Given the description of an element on the screen output the (x, y) to click on. 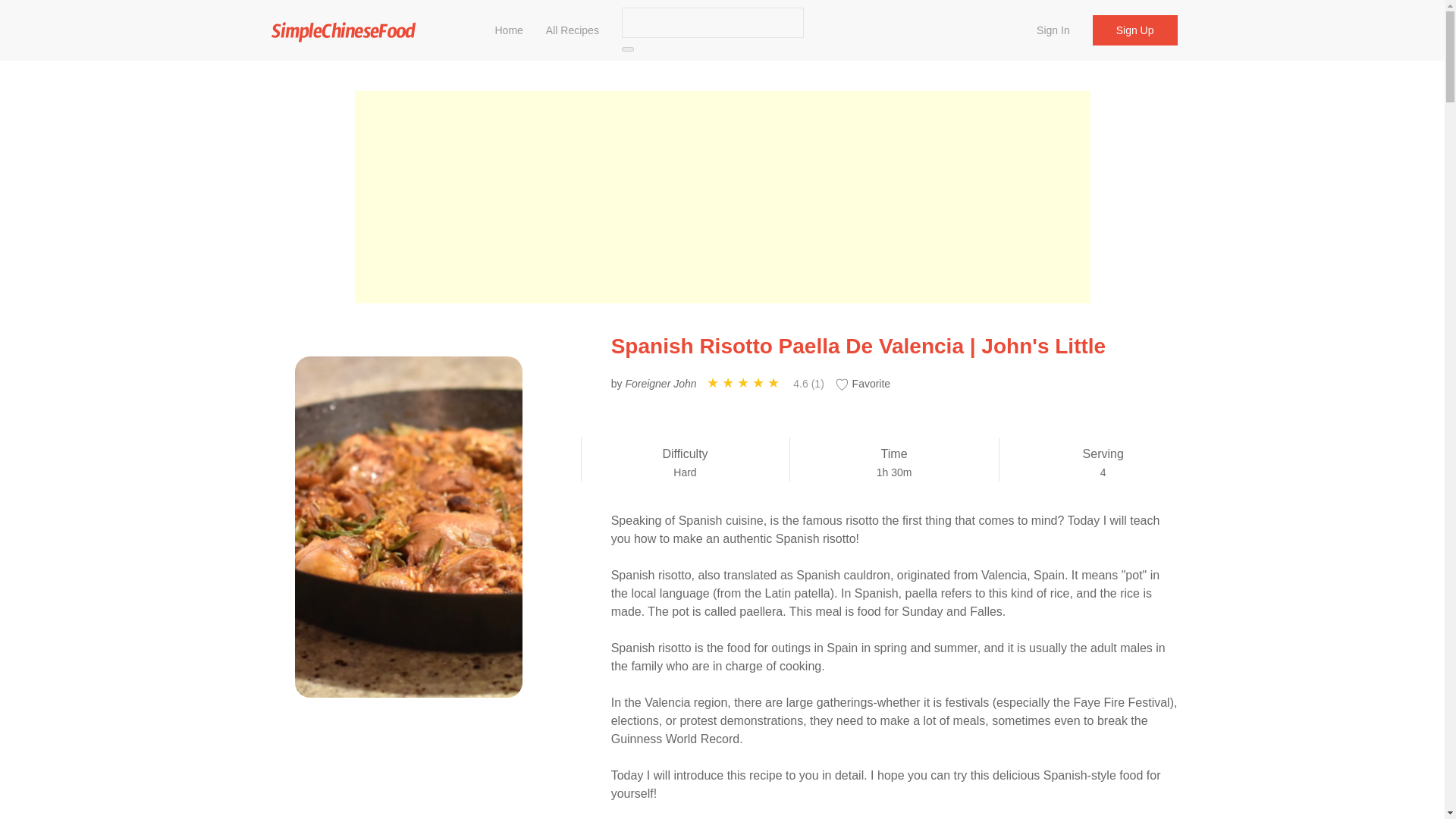
Sign In (1053, 30)
Sign Up (1135, 30)
All Recipes (572, 30)
